Given the description of an element on the screen output the (x, y) to click on. 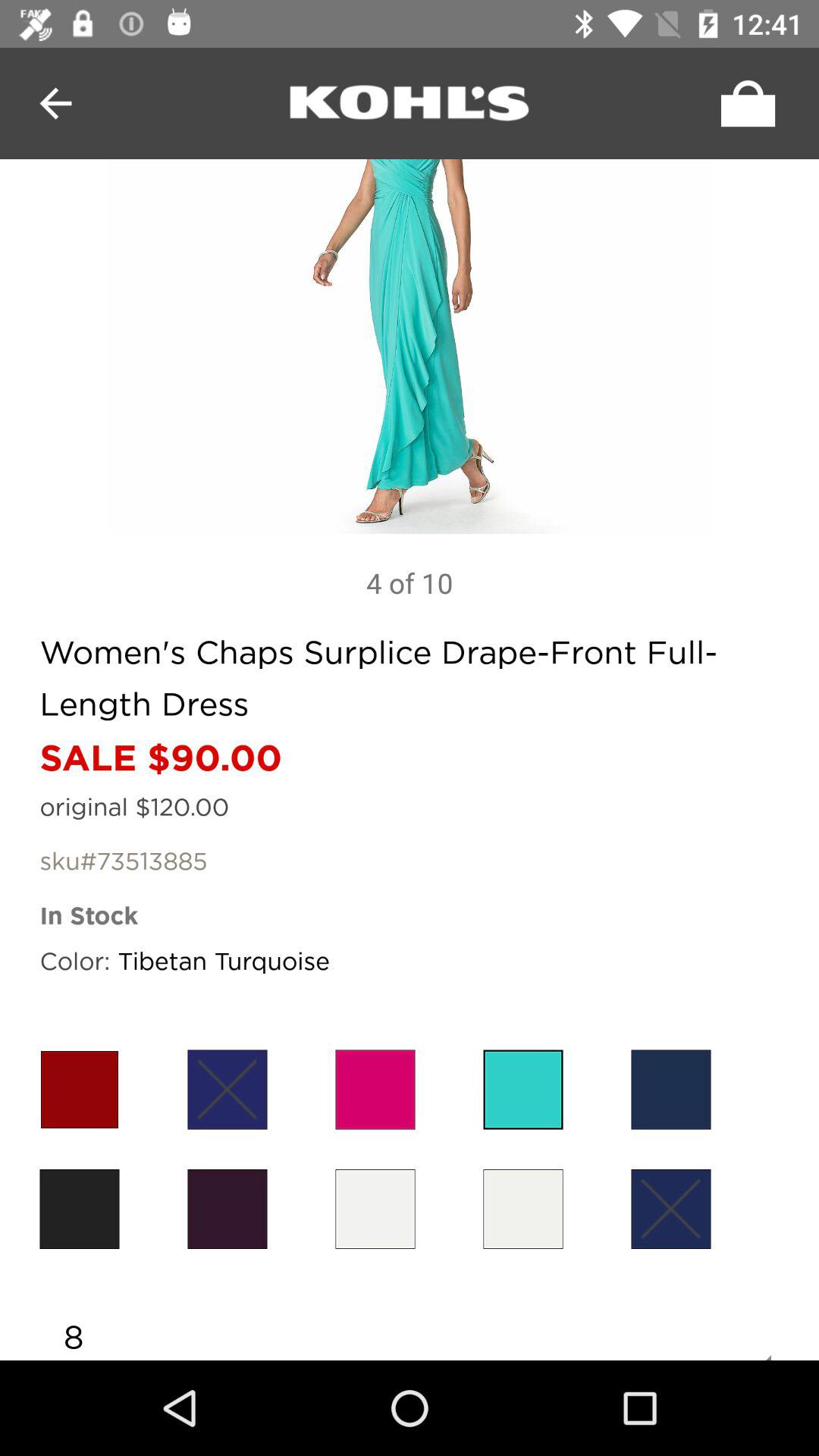
choose the icon below the  tibetan turquoise item (227, 1089)
